Given the description of an element on the screen output the (x, y) to click on. 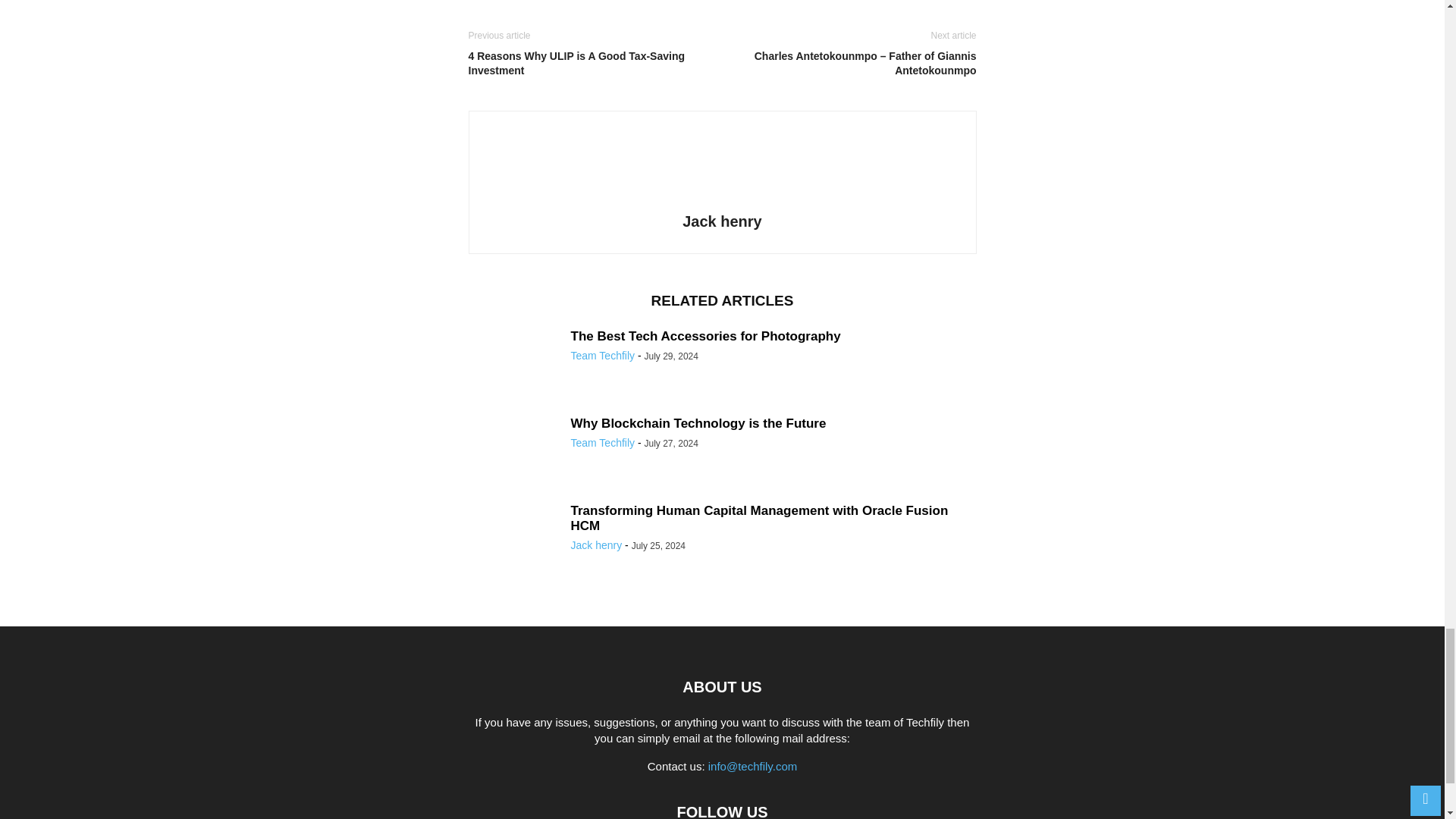
Jack henry (721, 221)
4 Reasons Why ULIP is A Good Tax-Saving Investment (591, 63)
Team Techfily (602, 355)
Why Blockchain Technology is the Future (697, 423)
Team Techfily (602, 442)
The Best Tech Accessories for Photography (705, 336)
